Given the description of an element on the screen output the (x, y) to click on. 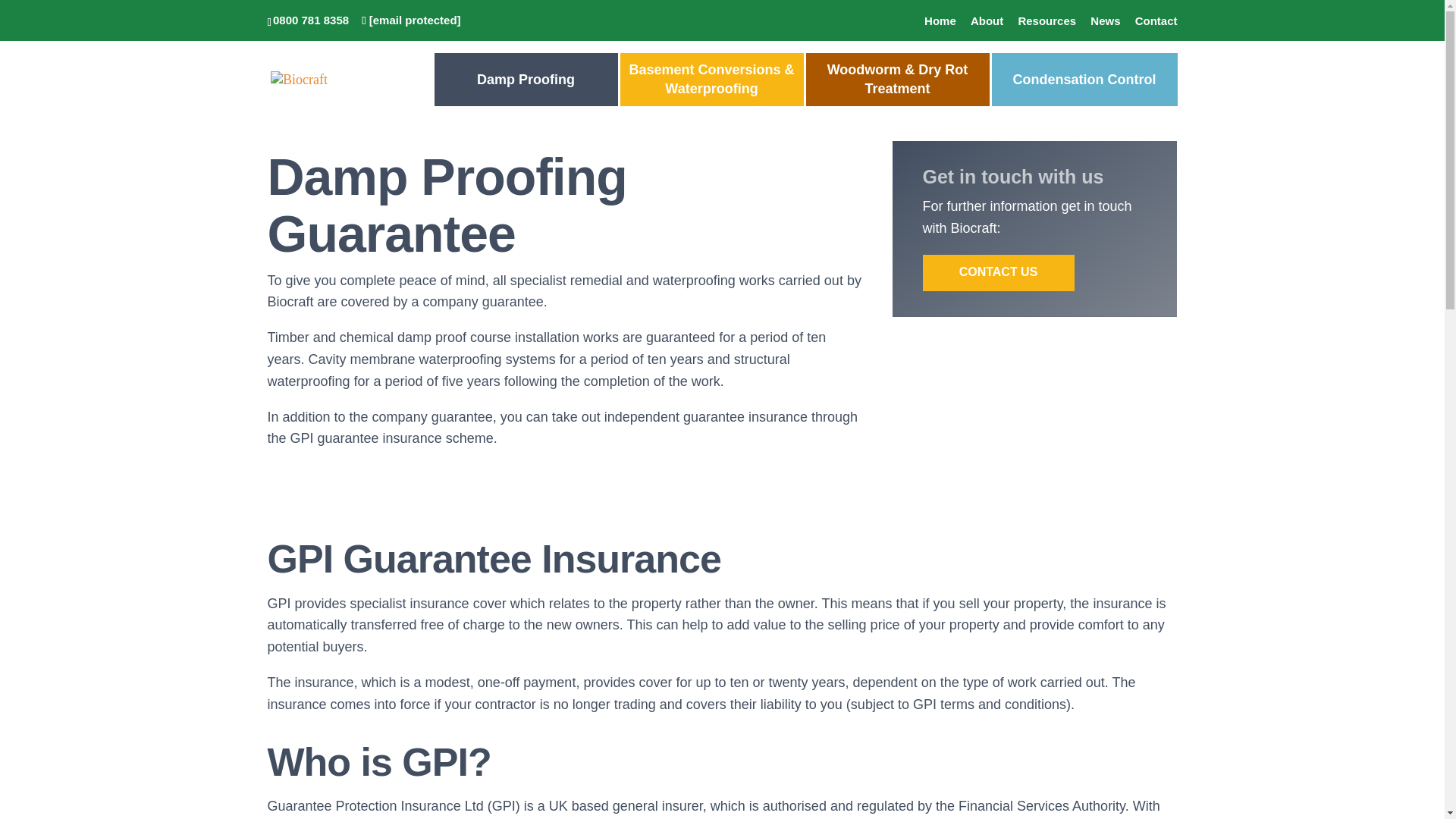
Home (940, 24)
Resources (1046, 24)
News (1104, 24)
Damp Proofing (525, 80)
Contact (1156, 24)
About (987, 24)
